Given the description of an element on the screen output the (x, y) to click on. 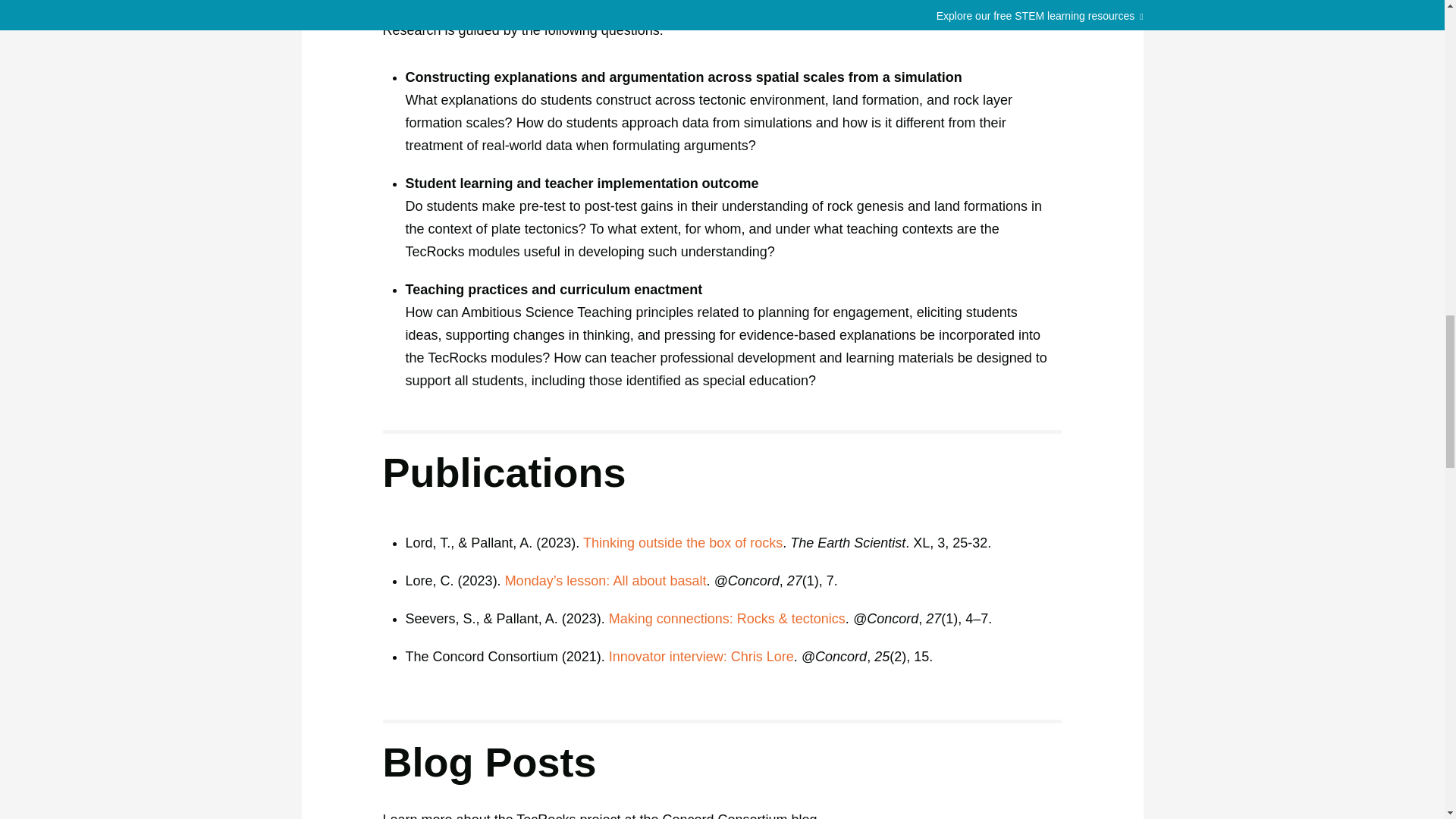
Innovator interview: Chris Lore (700, 656)
Thinking outside the box of rocks (683, 542)
Thinking outside the box of rocks (683, 542)
Innovator interview: Chris Lore (700, 656)
